Given the description of an element on the screen output the (x, y) to click on. 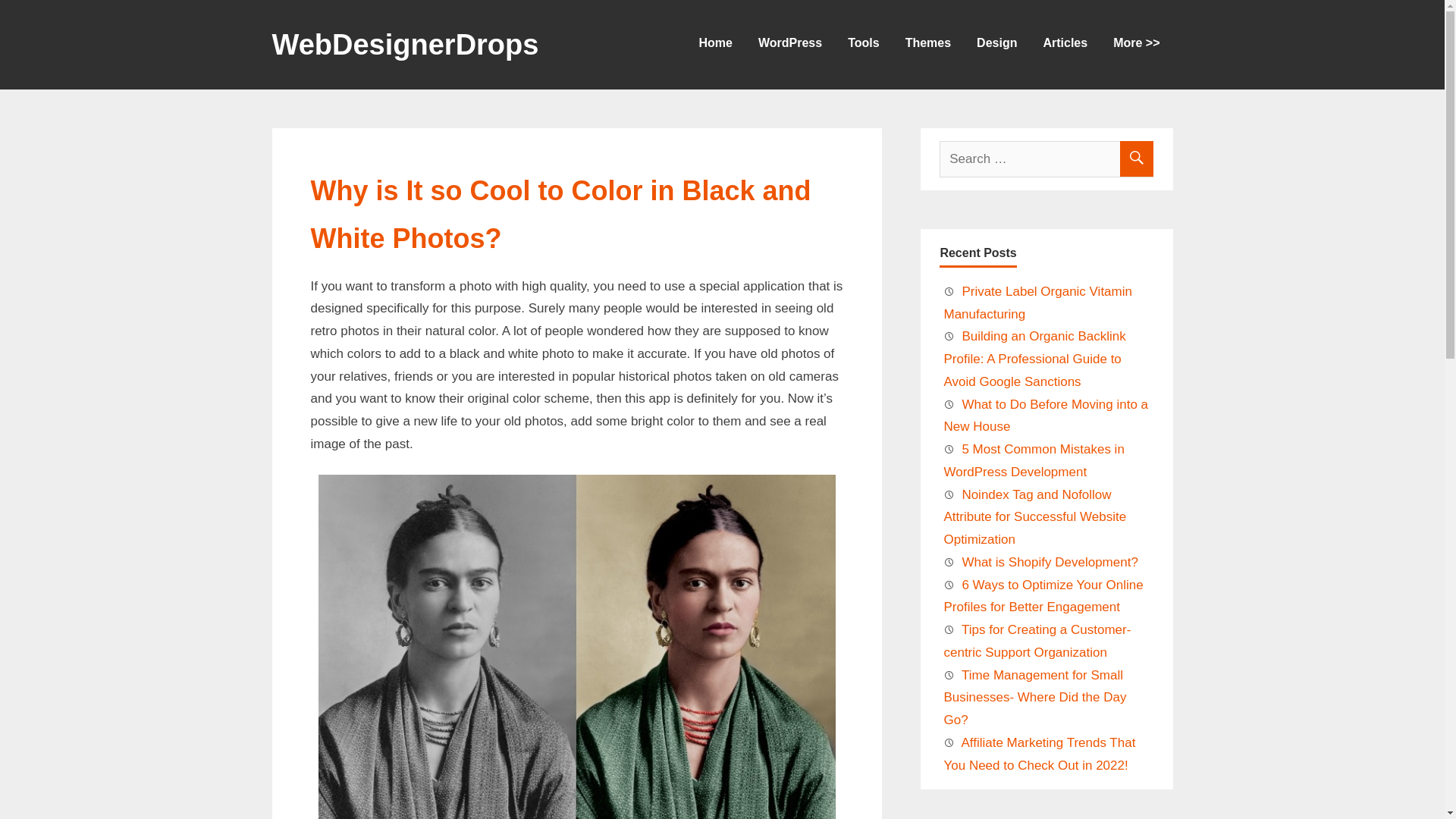
Themes (927, 39)
Home (715, 39)
WebDesignerDrops (404, 49)
WordPress (790, 39)
Tools (863, 39)
Articles (1064, 39)
WebDesignerDrops (404, 49)
Design (996, 39)
